Given the description of an element on the screen output the (x, y) to click on. 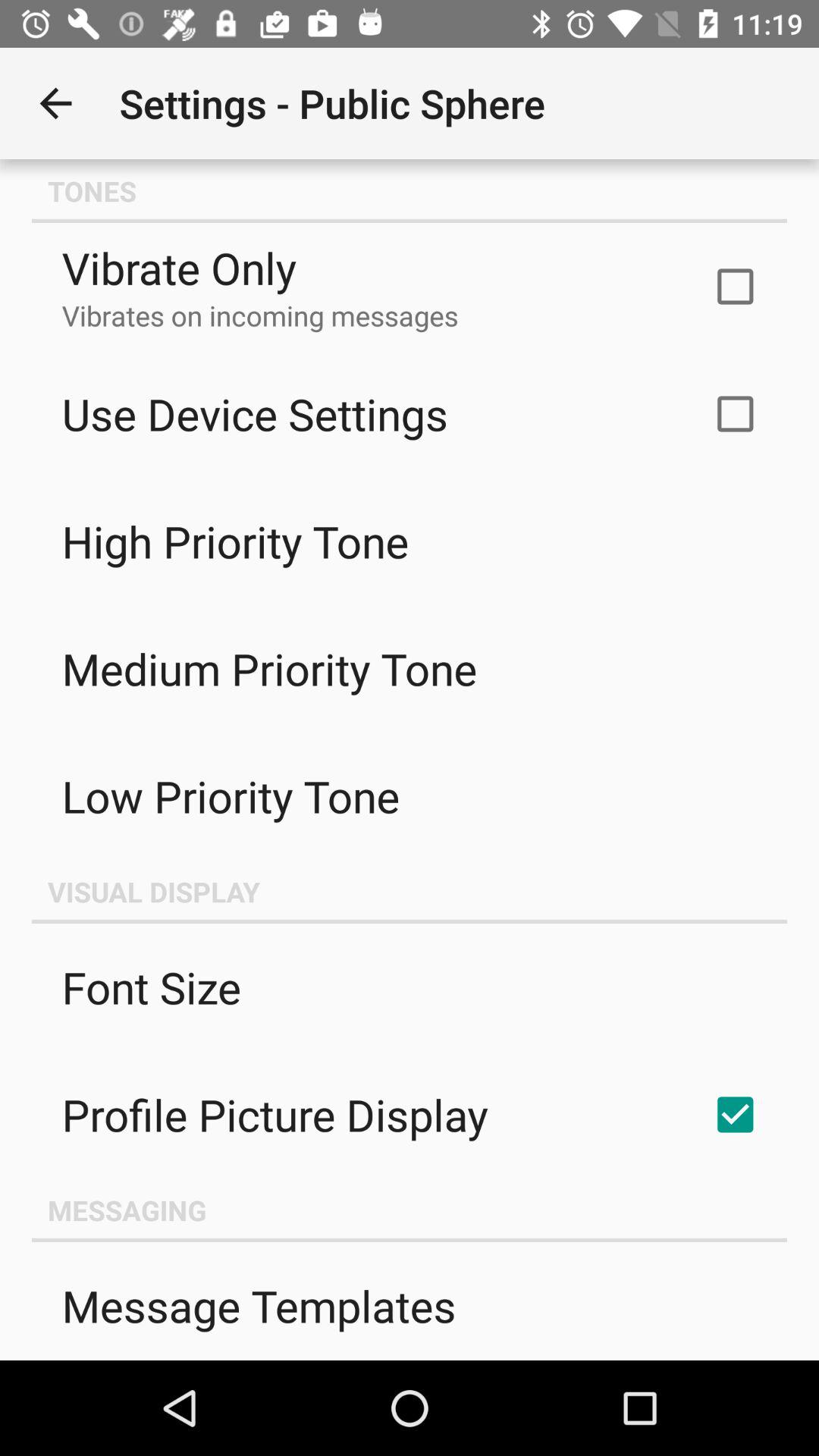
scroll to the tones (409, 190)
